Given the description of an element on the screen output the (x, y) to click on. 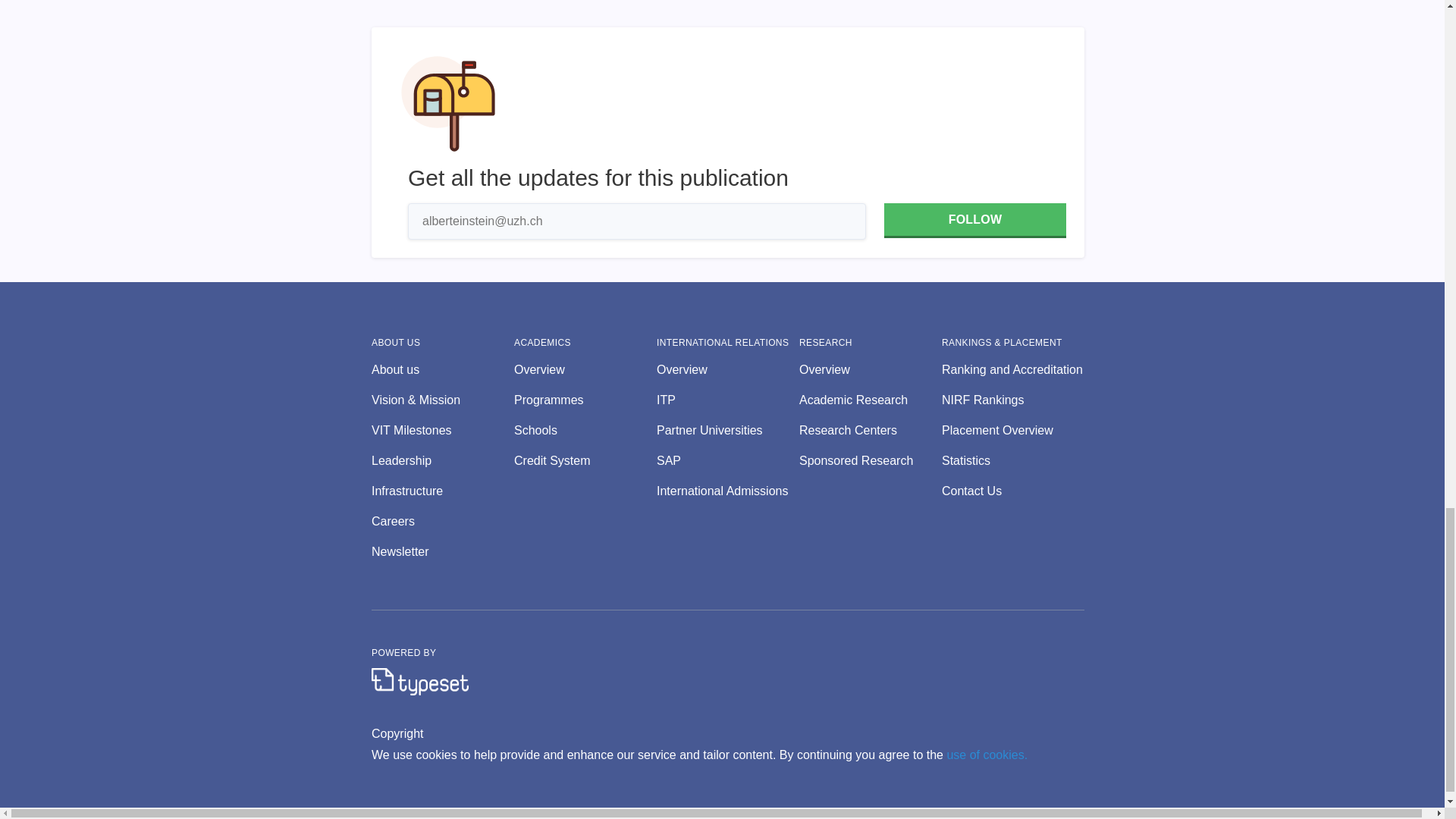
Overview (584, 370)
Overview (727, 370)
Leadership (442, 461)
Subscribe form hero illustration (448, 103)
International Admissions (727, 491)
Infrastructure (442, 491)
Credit System (584, 461)
Overview (870, 370)
ITP (727, 400)
About us (442, 370)
Schools (584, 430)
Newsletter (442, 551)
Partner Universities (727, 430)
FOLLOW (974, 220)
SAP (727, 461)
